Given the description of an element on the screen output the (x, y) to click on. 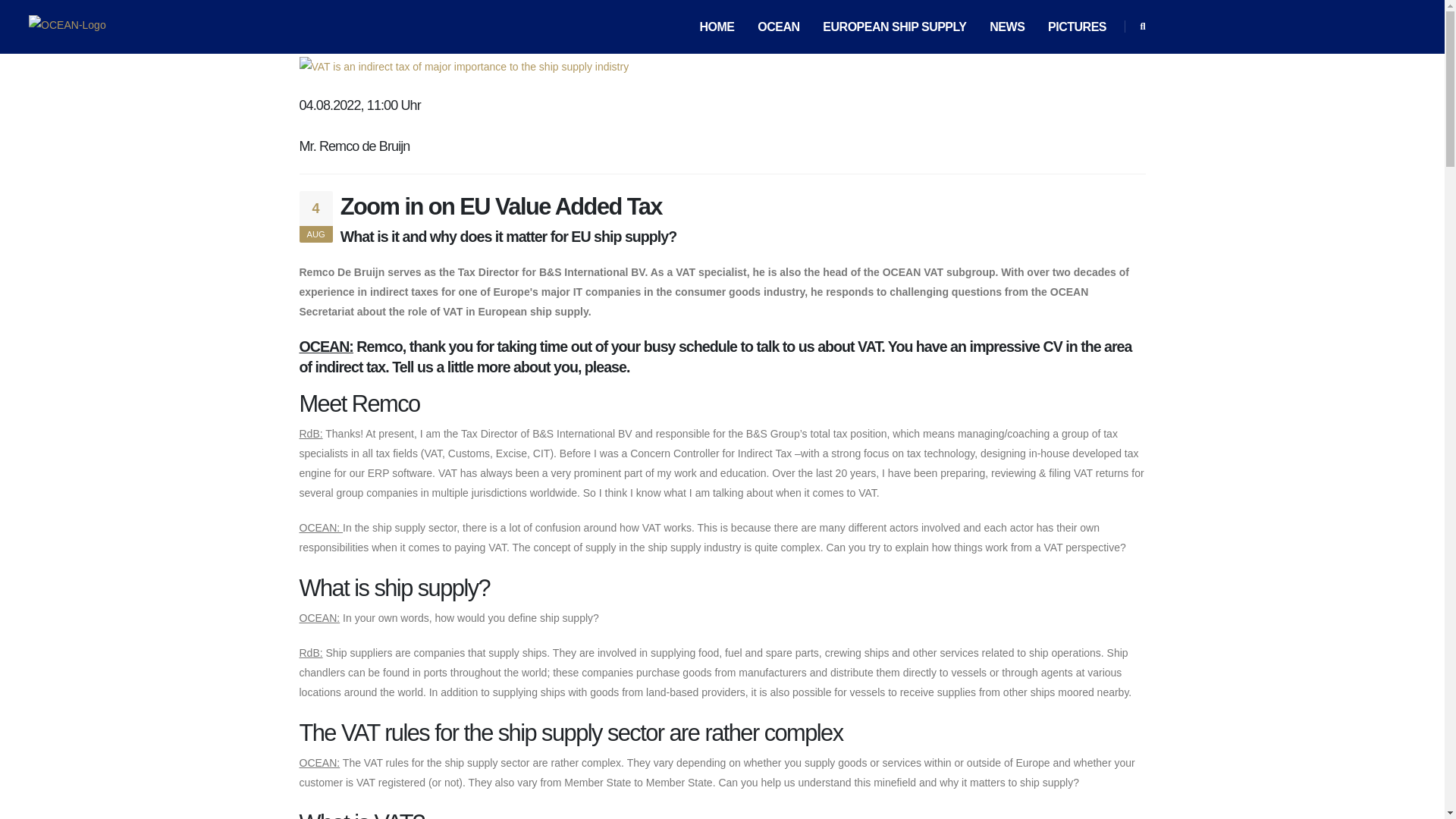
EUROPEAN SHIP SUPPLY (894, 27)
NEWS (1006, 27)
PICTURES (1077, 27)
HOME (716, 27)
OCEAN (778, 27)
